Given the description of an element on the screen output the (x, y) to click on. 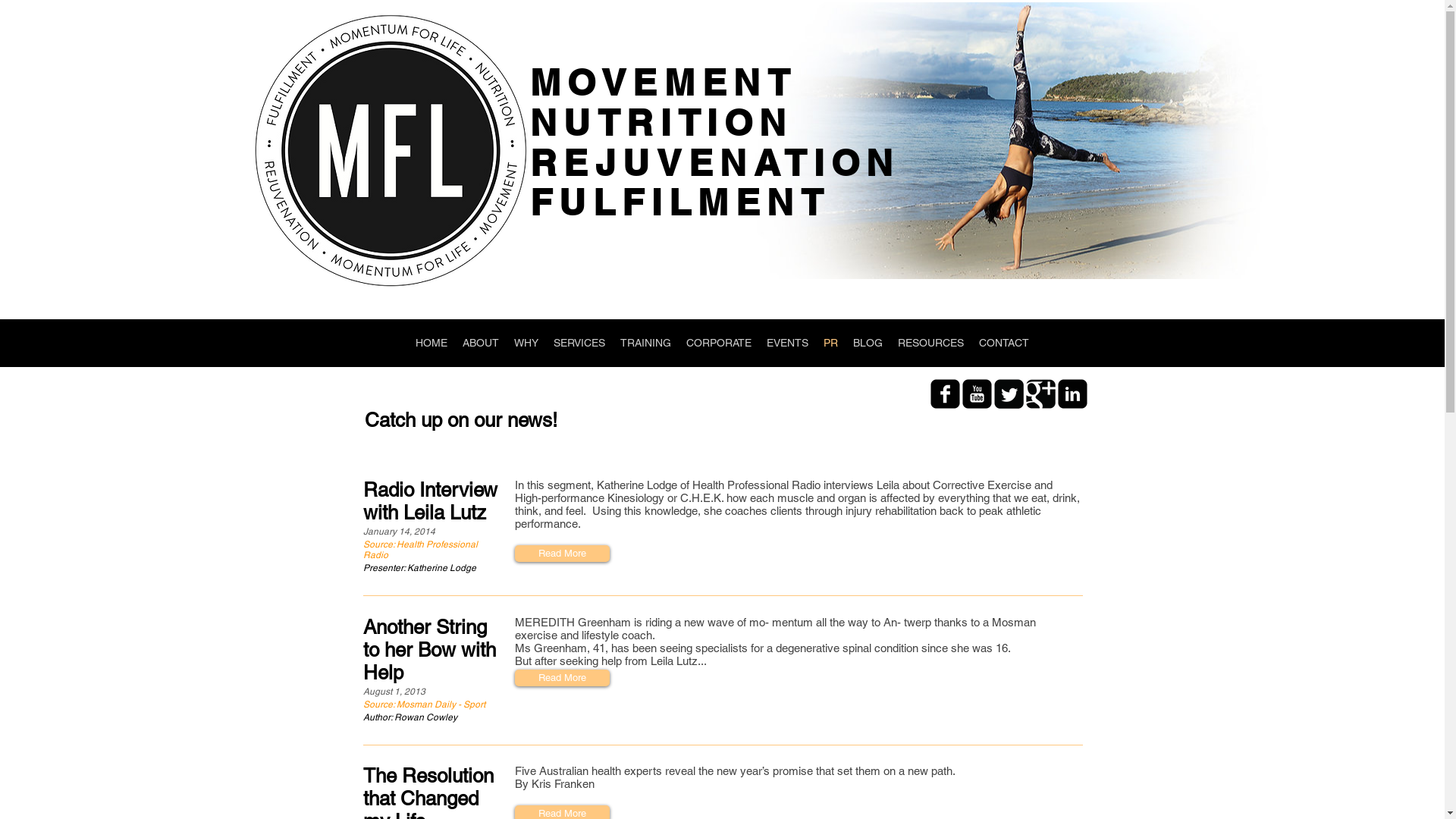
HOME Element type: text (431, 342)
Another String to her Bow with Help Element type: text (430, 649)
MFL Final Logo v2.png Element type: hover (390, 150)
Source: Health Professional Radio Element type: text (430, 549)
Read More Element type: text (561, 677)
PR Element type: text (830, 342)
WHY Element type: text (526, 342)
Site Search Element type: hover (1012, 294)
RESOURCES Element type: text (930, 342)
EVENTS Element type: text (787, 342)
BLOG Element type: text (867, 342)
Read More Element type: text (561, 553)
CORPORATE Element type: text (718, 342)
TRAINING Element type: text (645, 342)
CONTACT Element type: text (1003, 342)
ABOUT Element type: text (480, 342)
Radio Interview with Leila Lutz Element type: text (430, 501)
SERVICES Element type: text (579, 342)
